Given the description of an element on the screen output the (x, y) to click on. 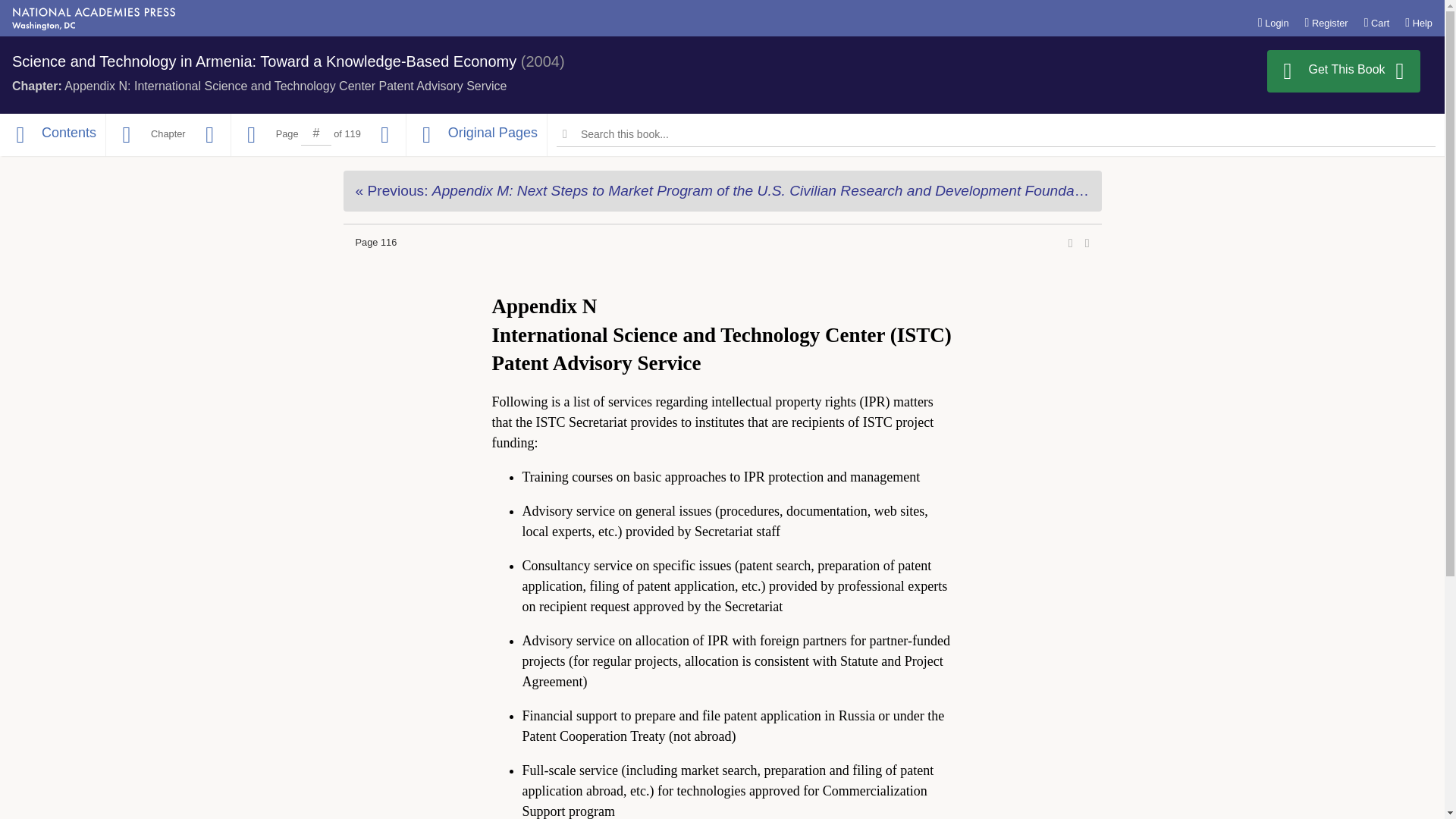
Next Page (385, 134)
Previous Chapter (721, 190)
Previous Chapter (126, 134)
Contents (52, 134)
Cart (1377, 22)
Register (1326, 22)
Buy or download a copy of this book. (1343, 70)
Previous Page (251, 134)
Help (1418, 22)
Get This Book (1343, 70)
